Given the description of an element on the screen output the (x, y) to click on. 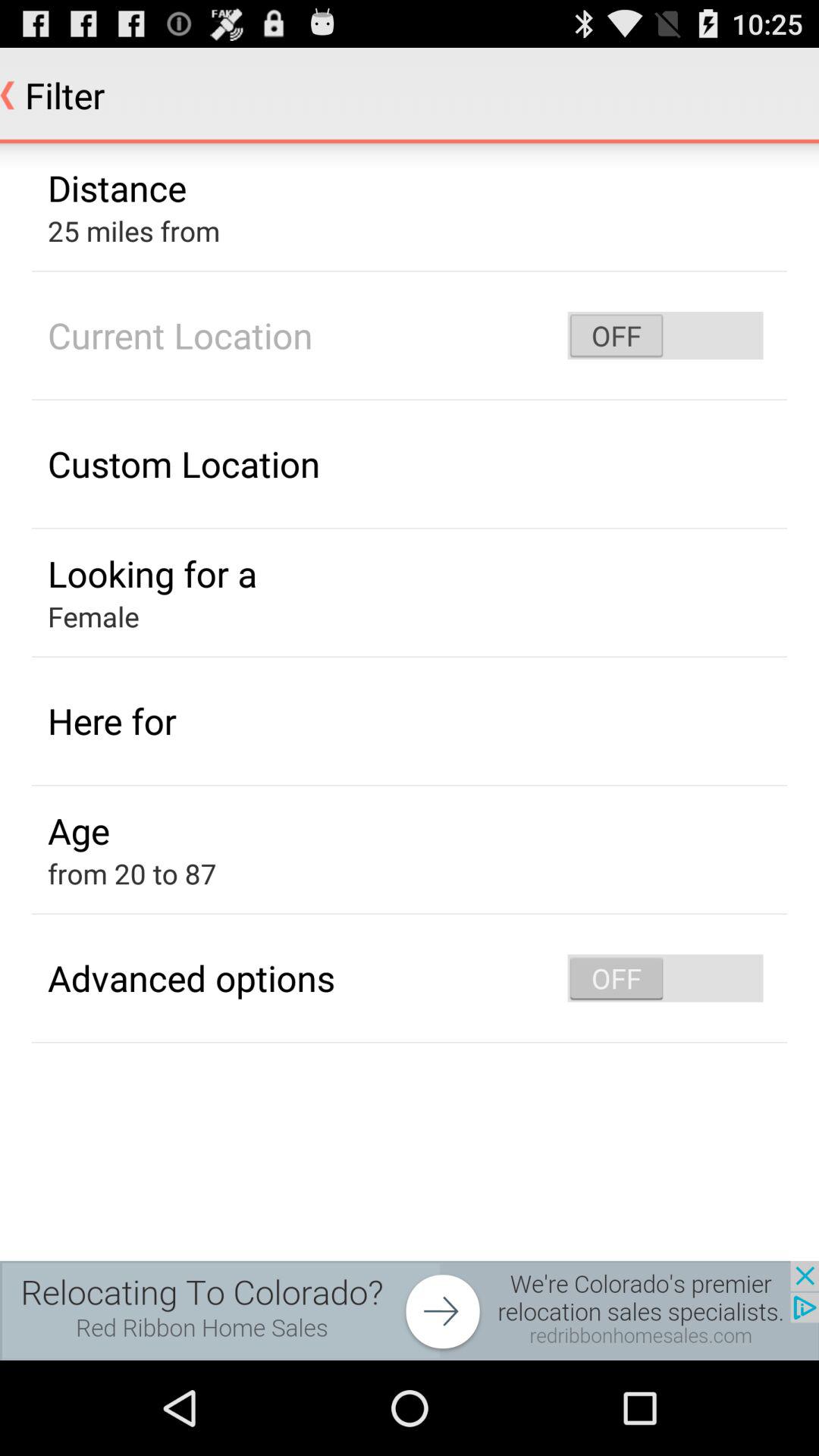
advertisement (409, 1310)
